Given the description of an element on the screen output the (x, y) to click on. 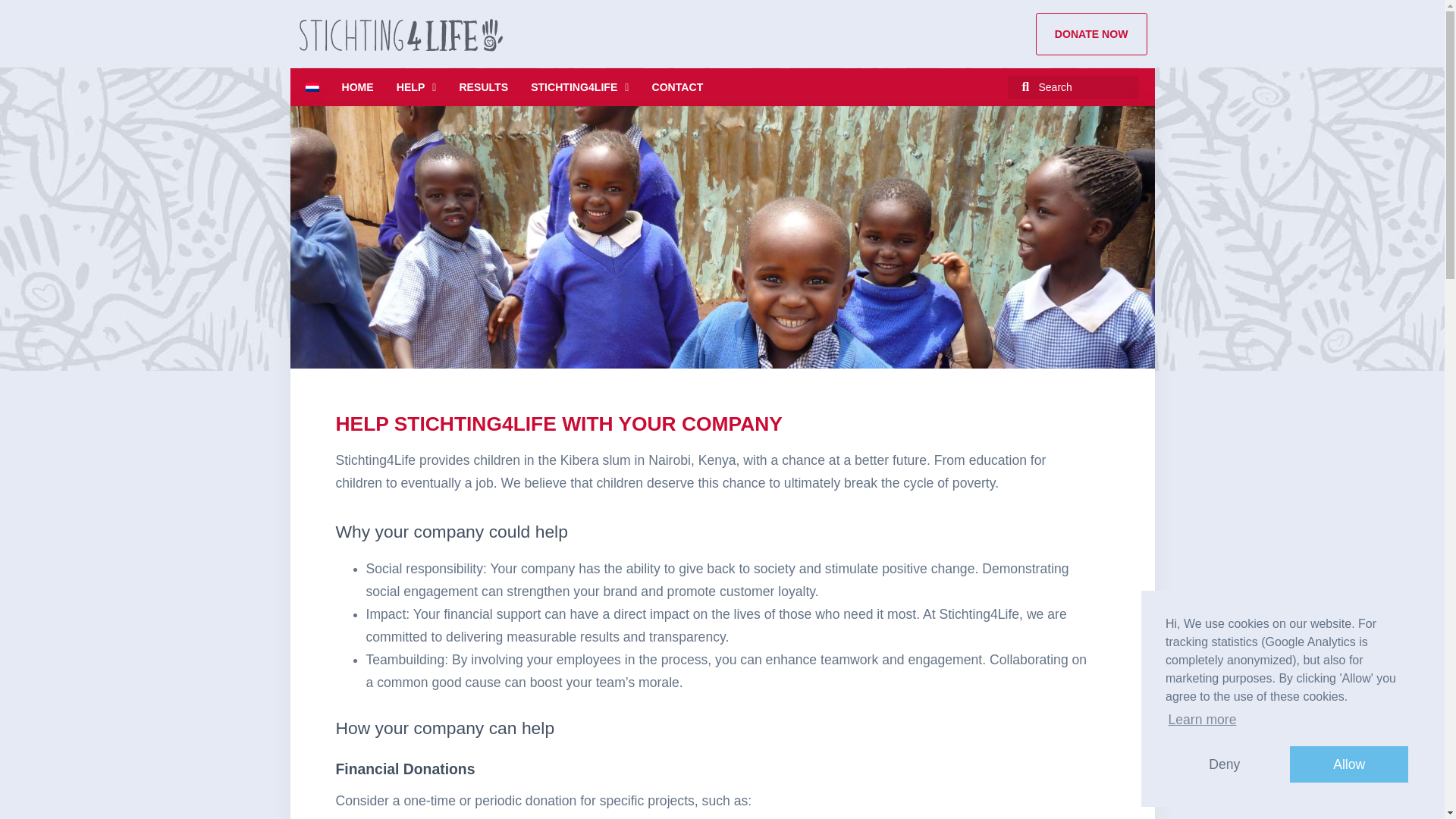
RESULTS (483, 86)
STICHTING4LIFE (579, 86)
HOME (356, 86)
DONATE NOW (1091, 34)
CONTACT (676, 86)
HELP (416, 86)
